Given the description of an element on the screen output the (x, y) to click on. 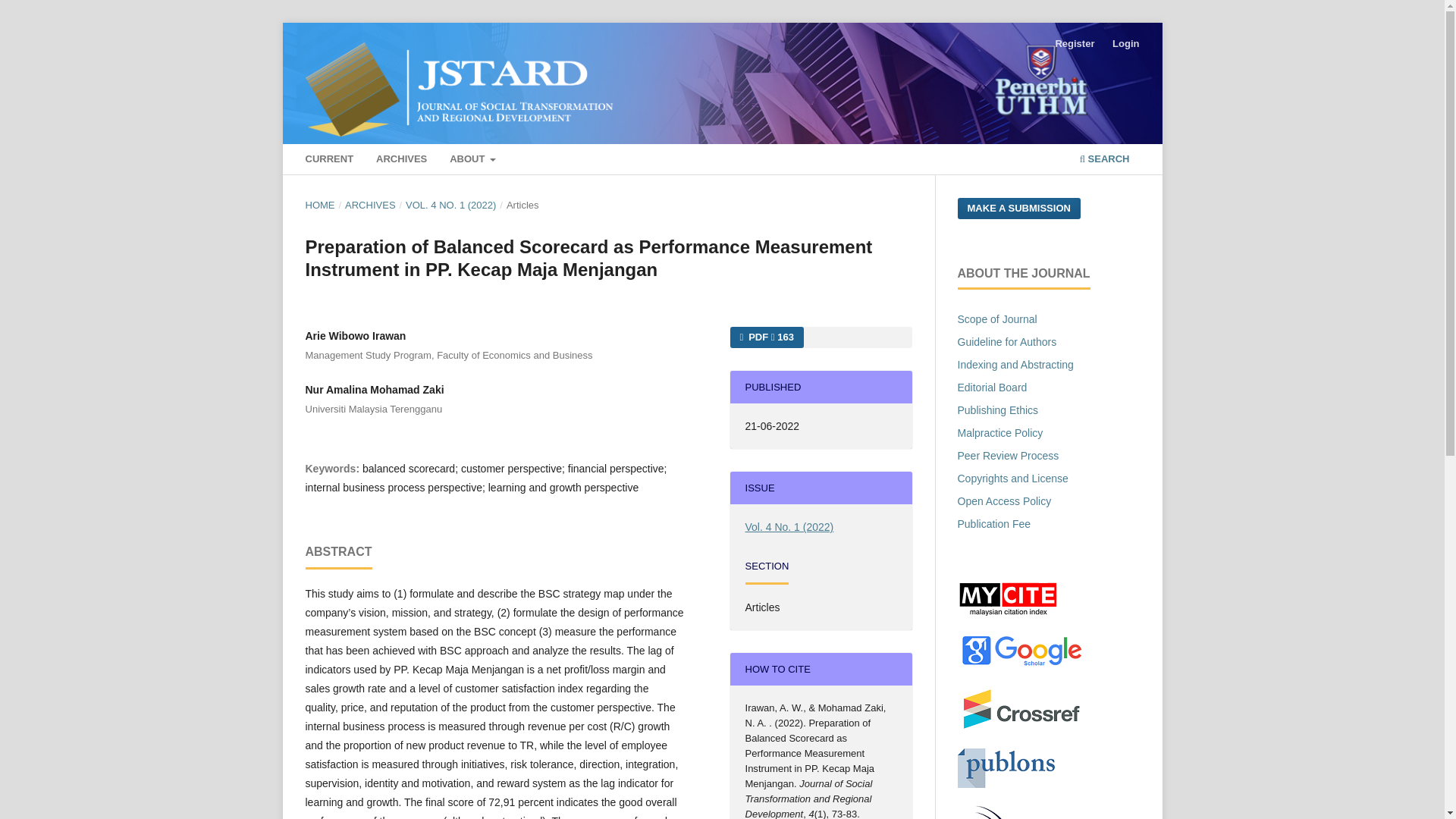
Register (1074, 43)
CURRENT (328, 161)
ARCHIVES (370, 205)
SEARCH (1104, 161)
Scope of Journal (996, 318)
Login (1126, 43)
ARCHIVES (401, 161)
ABOUT (472, 161)
PDF 163 (766, 337)
HOME (319, 205)
MAKE A SUBMISSION (1018, 208)
